Given the description of an element on the screen output the (x, y) to click on. 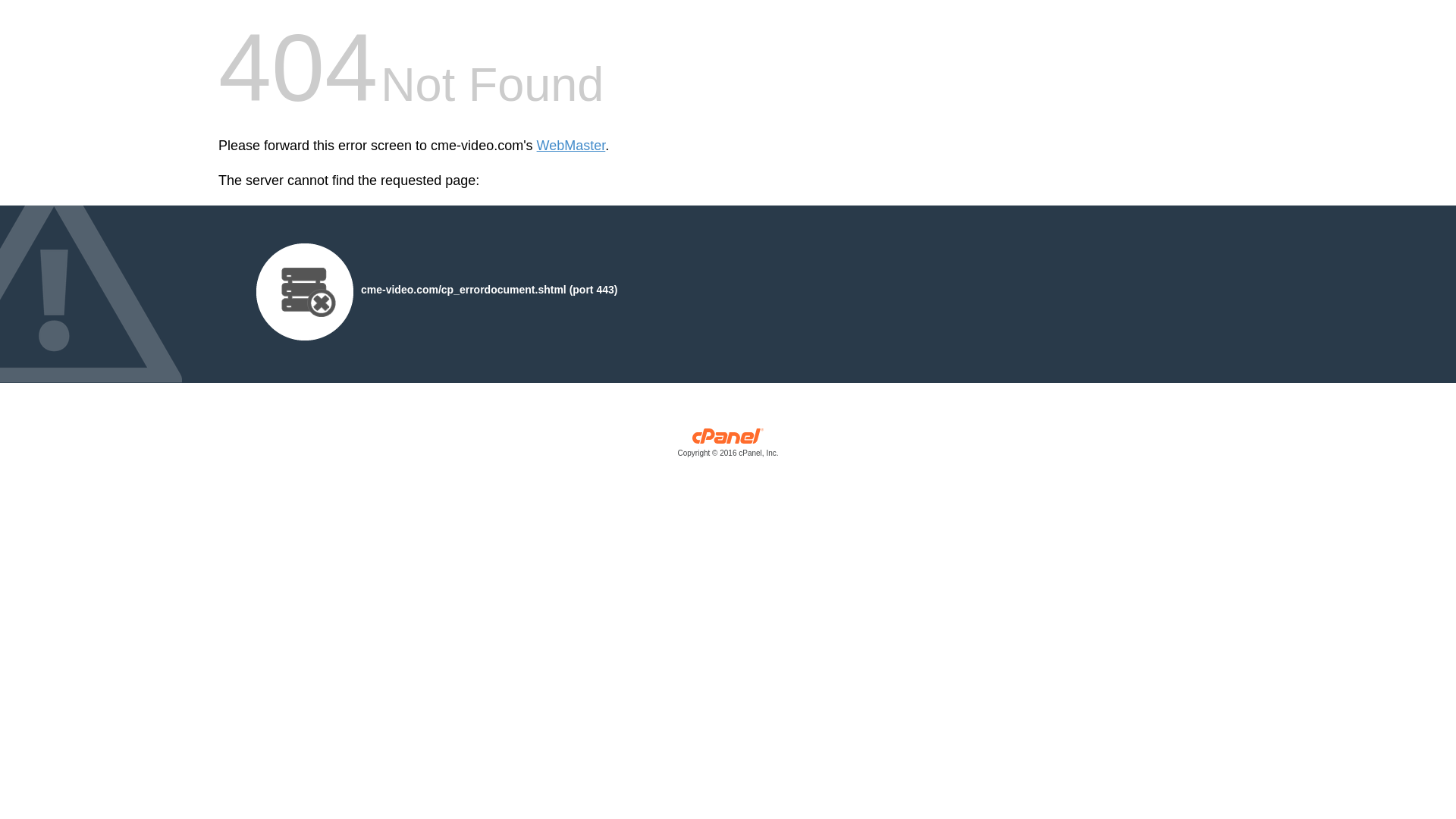
cPanel, Inc. (727, 446)
WebMaster (571, 145)
